Given the description of an element on the screen output the (x, y) to click on. 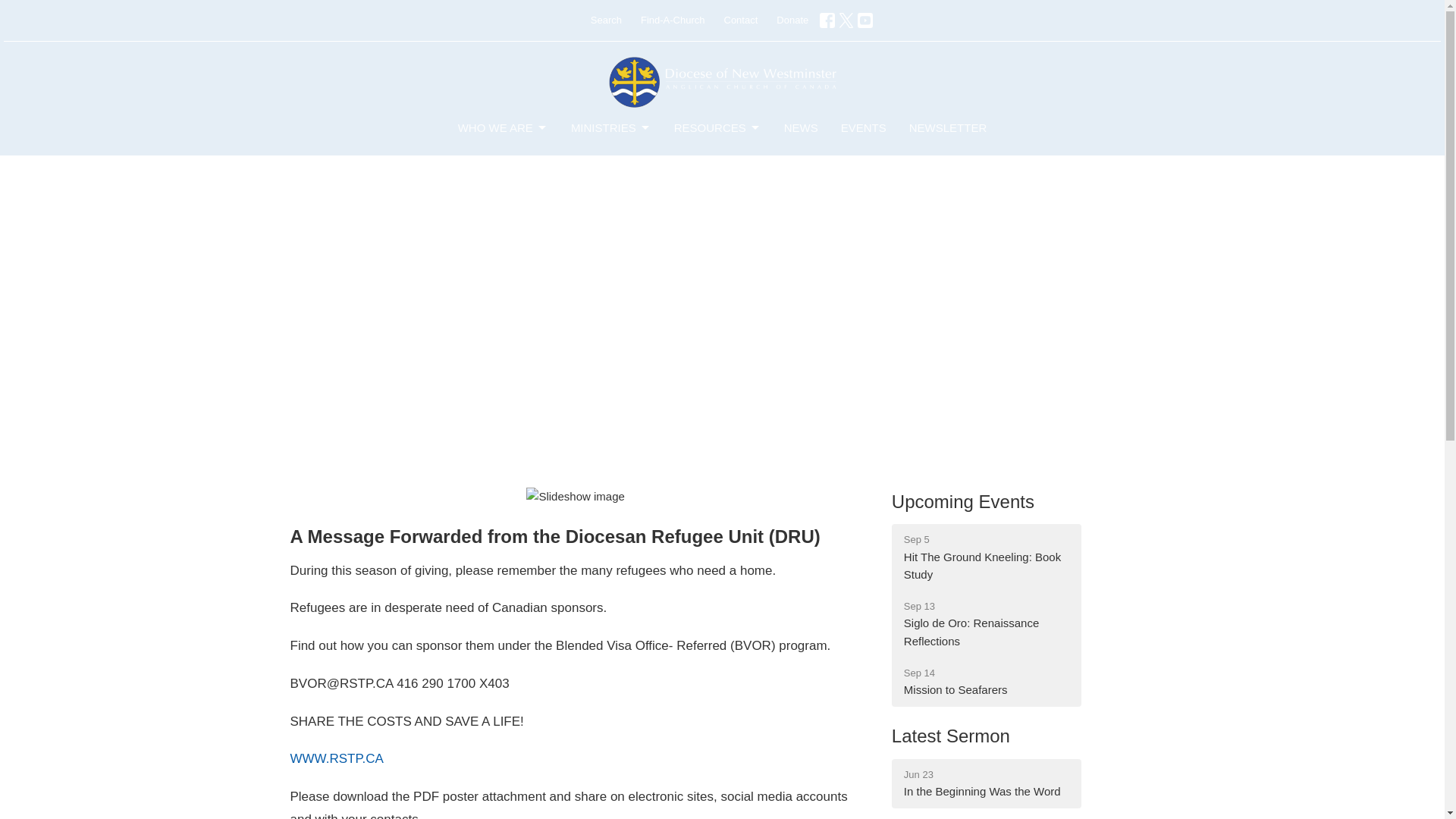
EVENTS (863, 127)
MINISTRIES (610, 127)
Contact (740, 20)
WHO WE ARE (503, 127)
Donate (791, 20)
Search (605, 20)
NEWSLETTER (947, 127)
NEWS (801, 127)
WWW.RSTP.CA (335, 758)
Find-A-Church (673, 20)
